Given the description of an element on the screen output the (x, y) to click on. 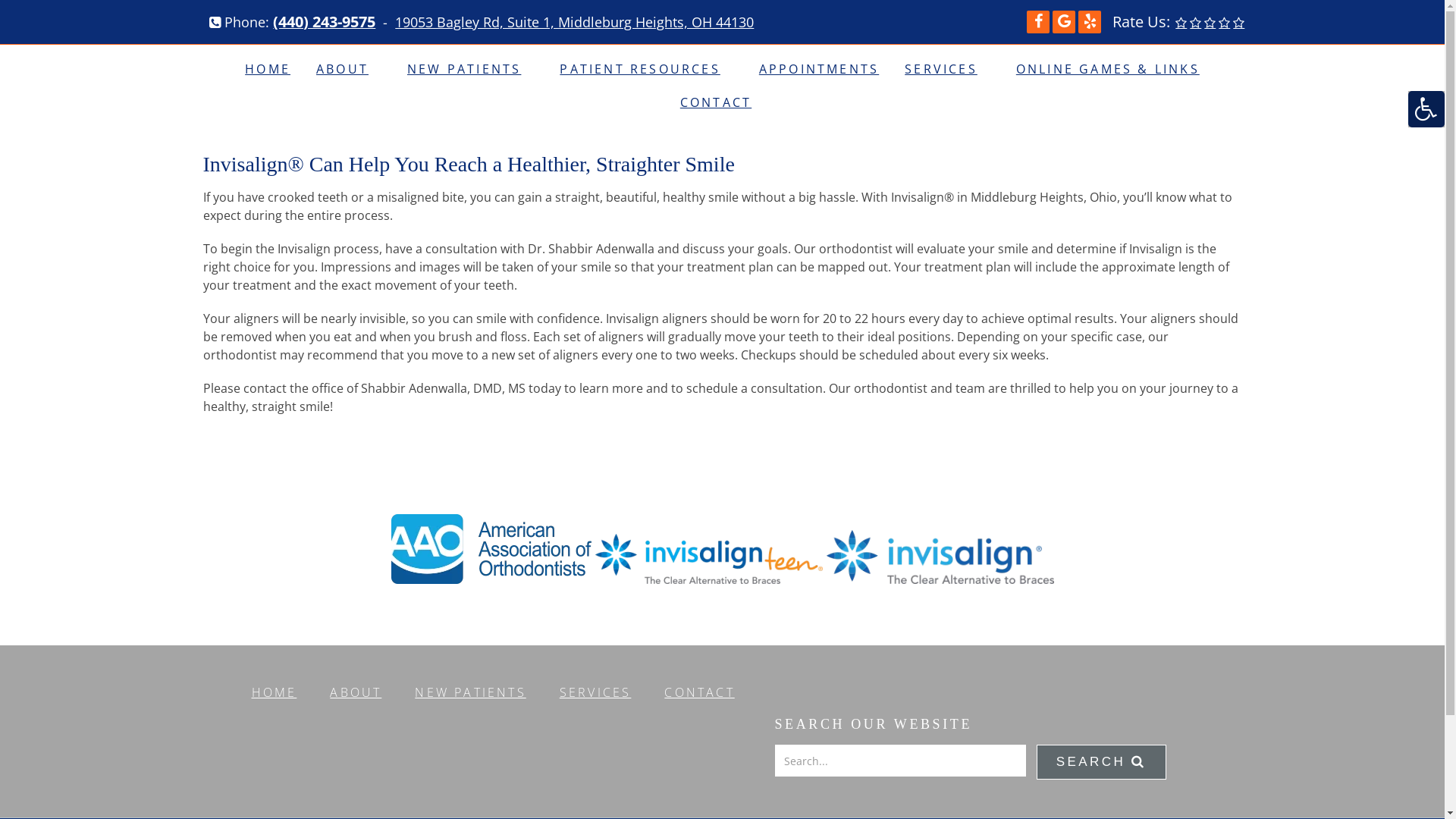
SEARCH Element type: text (1101, 761)
HOME Element type: text (267, 68)
SERVICES Element type: text (595, 692)
SERVICES Element type: text (947, 68)
PATIENT RESOURCES Element type: text (645, 68)
NEW PATIENTS Element type: text (470, 68)
NEW PATIENTS Element type: text (469, 692)
19053 Bagley Rd, Suite 1, Middleburg Heights, OH 44130 Element type: text (574, 21)
APPOINTMENTS Element type: text (818, 68)
Accessibility Helper sidebar Element type: hover (1426, 109)
ABOUT Element type: text (355, 692)
ABOUT Element type: text (348, 68)
(440) 243-9575 Element type: text (324, 21)
CONTACT Element type: text (721, 102)
CONTACT Element type: text (699, 692)
HOME Element type: text (274, 692)
ONLINE GAMES & LINKS Element type: text (1107, 68)
